Given the description of an element on the screen output the (x, y) to click on. 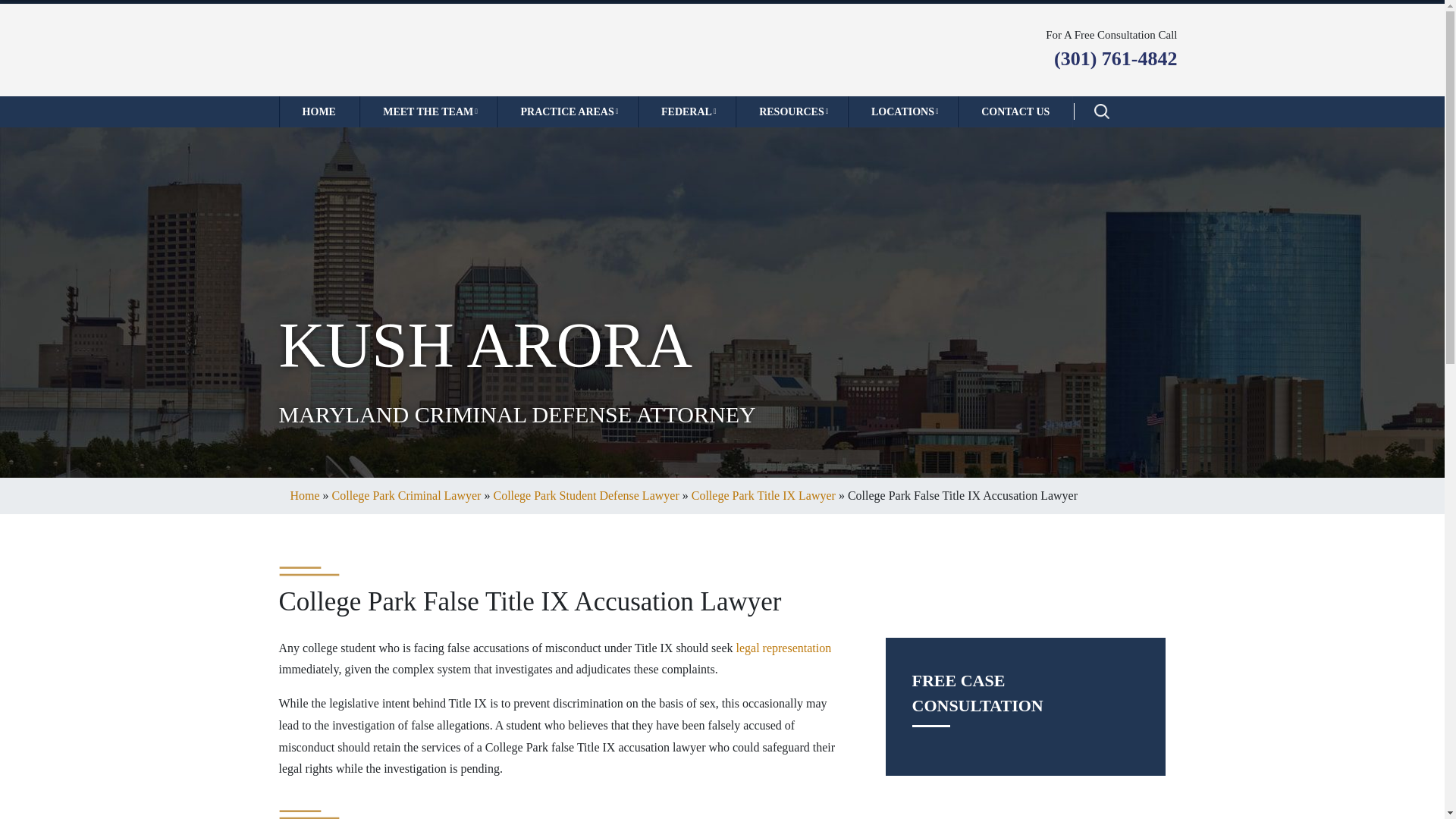
RESOURCES (791, 110)
PRACTICE AREAS (566, 110)
MEET THE TEAM (427, 110)
HOME (319, 110)
Kush Arora Attorney At Law (410, 47)
LOCATIONS (902, 110)
FEDERAL (686, 110)
